Given the description of an element on the screen output the (x, y) to click on. 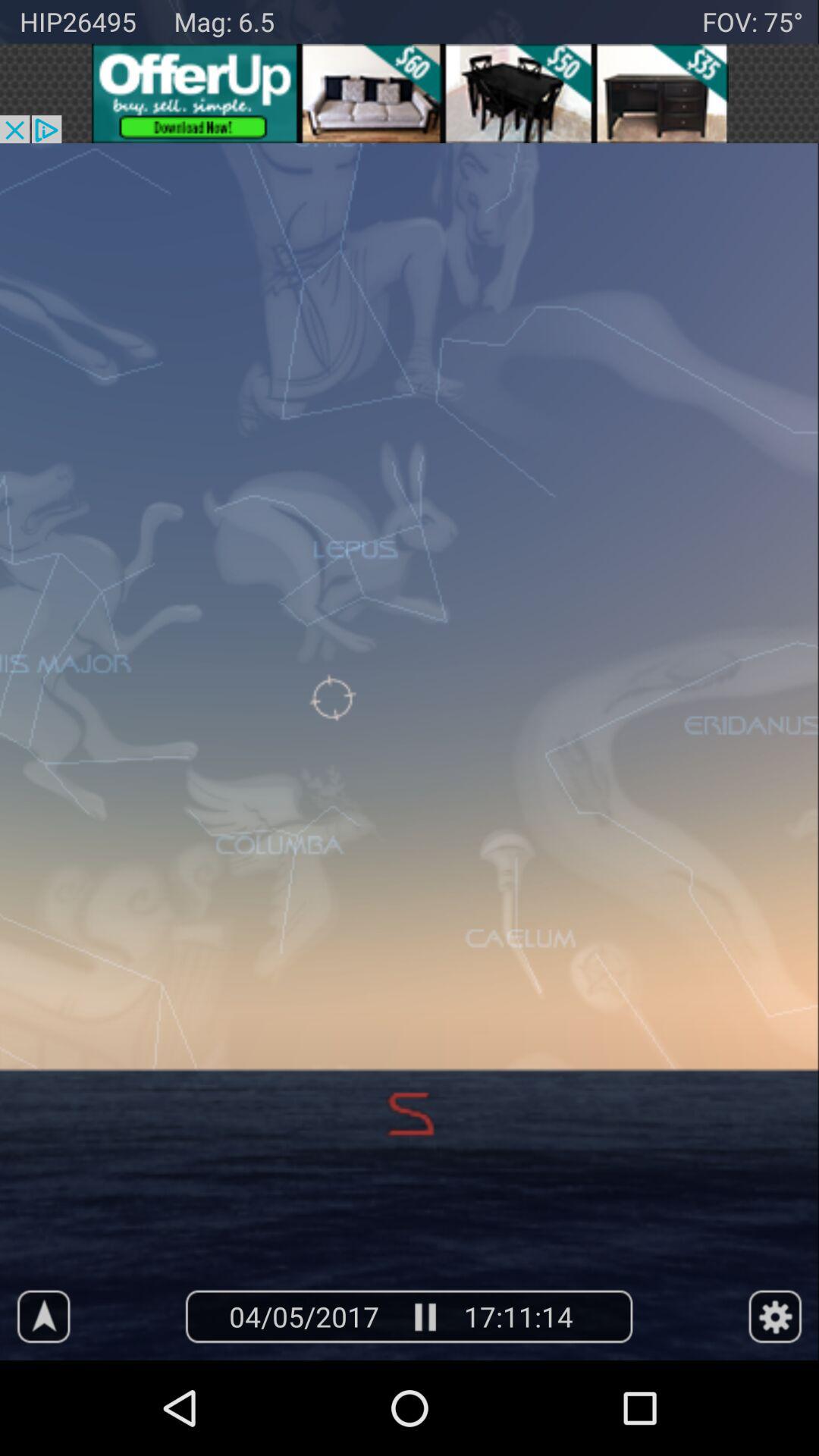
switch pause option (423, 1316)
